Given the description of an element on the screen output the (x, y) to click on. 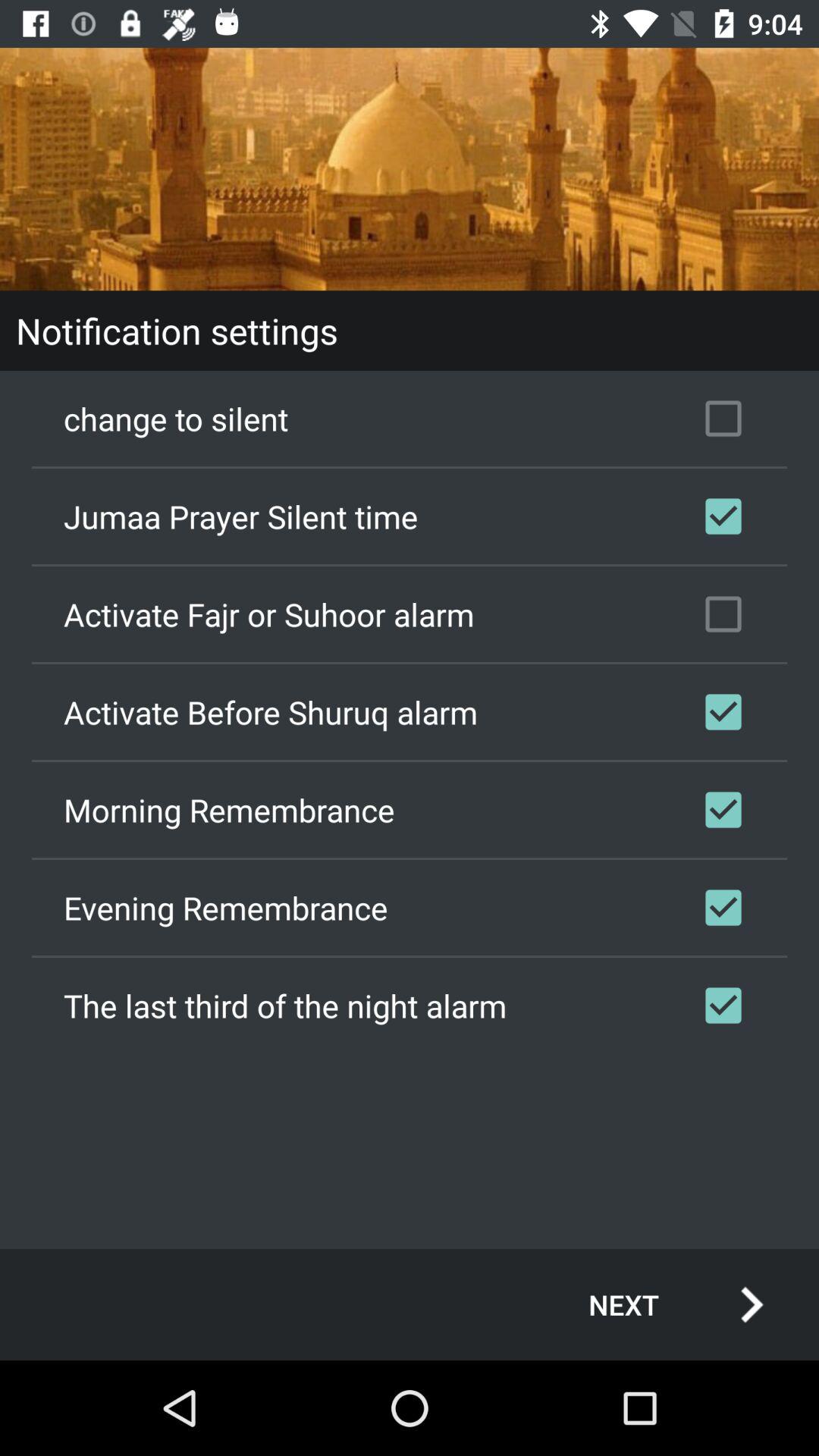
flip to the activate before shuruq checkbox (409, 711)
